Given the description of an element on the screen output the (x, y) to click on. 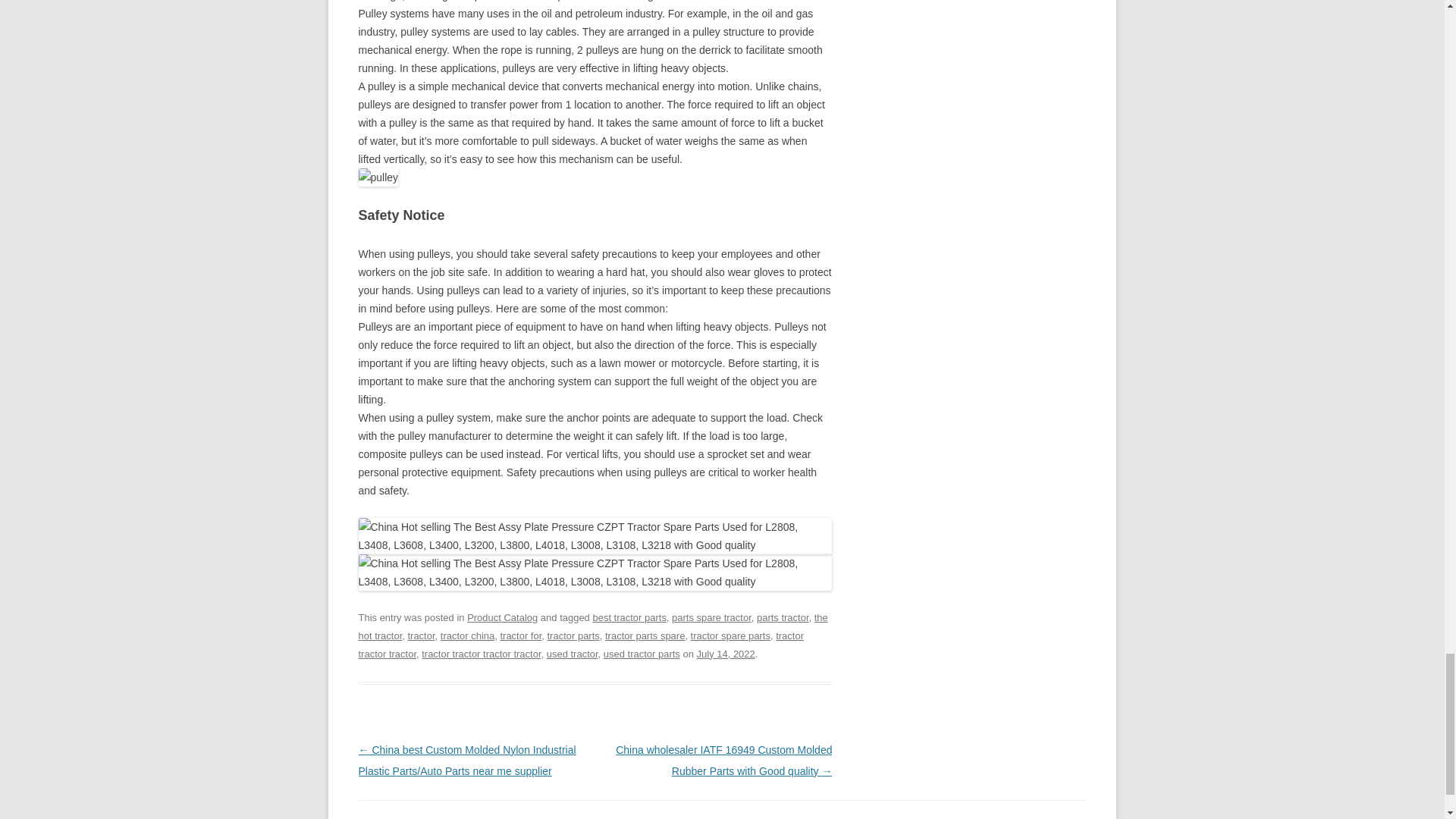
July 14, 2022 (726, 654)
used tractor parts (641, 654)
Product Catalog (502, 617)
used tractor (572, 654)
best tractor parts (628, 617)
tractor tractor tractor (580, 644)
the hot tractor (592, 626)
10:49 pm (726, 654)
tractor tractor tractor tractor (481, 654)
tractor china (468, 635)
